Given the description of an element on the screen output the (x, y) to click on. 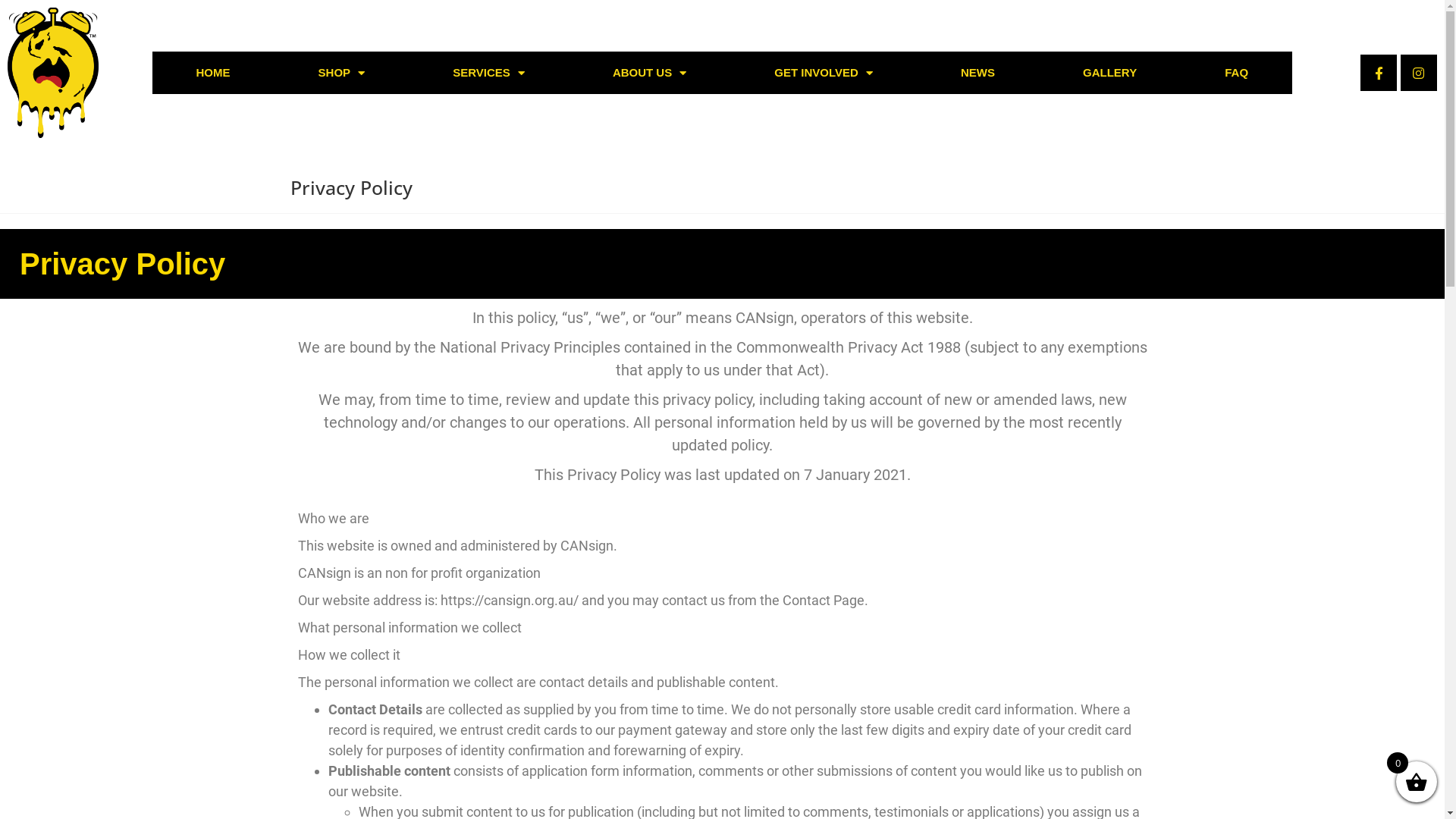
NEWS Element type: text (977, 72)
ABOUT US Element type: text (649, 72)
GET INVOLVED Element type: text (823, 72)
FAQ Element type: text (1236, 72)
HOME Element type: text (212, 72)
GALLERY Element type: text (1109, 72)
SERVICES Element type: text (488, 72)
SHOP Element type: text (341, 72)
